Given the description of an element on the screen output the (x, y) to click on. 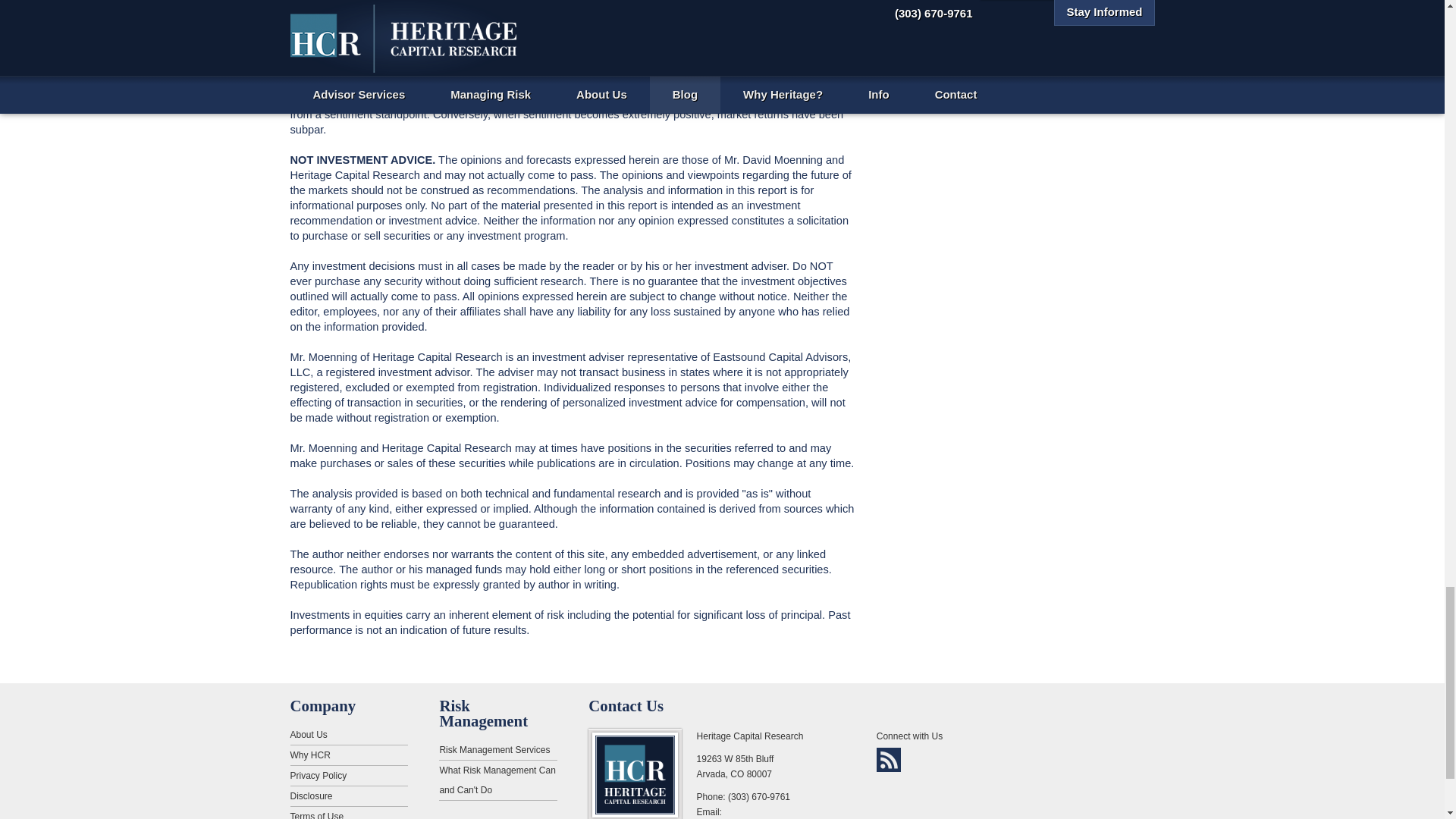
What Risk Management Can and Can't Do (497, 780)
RSS (888, 759)
Why HCR (348, 755)
Risk Management Services (497, 750)
Disclosure (348, 796)
Privacy Policy (348, 775)
About Us (348, 734)
Terms of Use (348, 812)
